Given the description of an element on the screen output the (x, y) to click on. 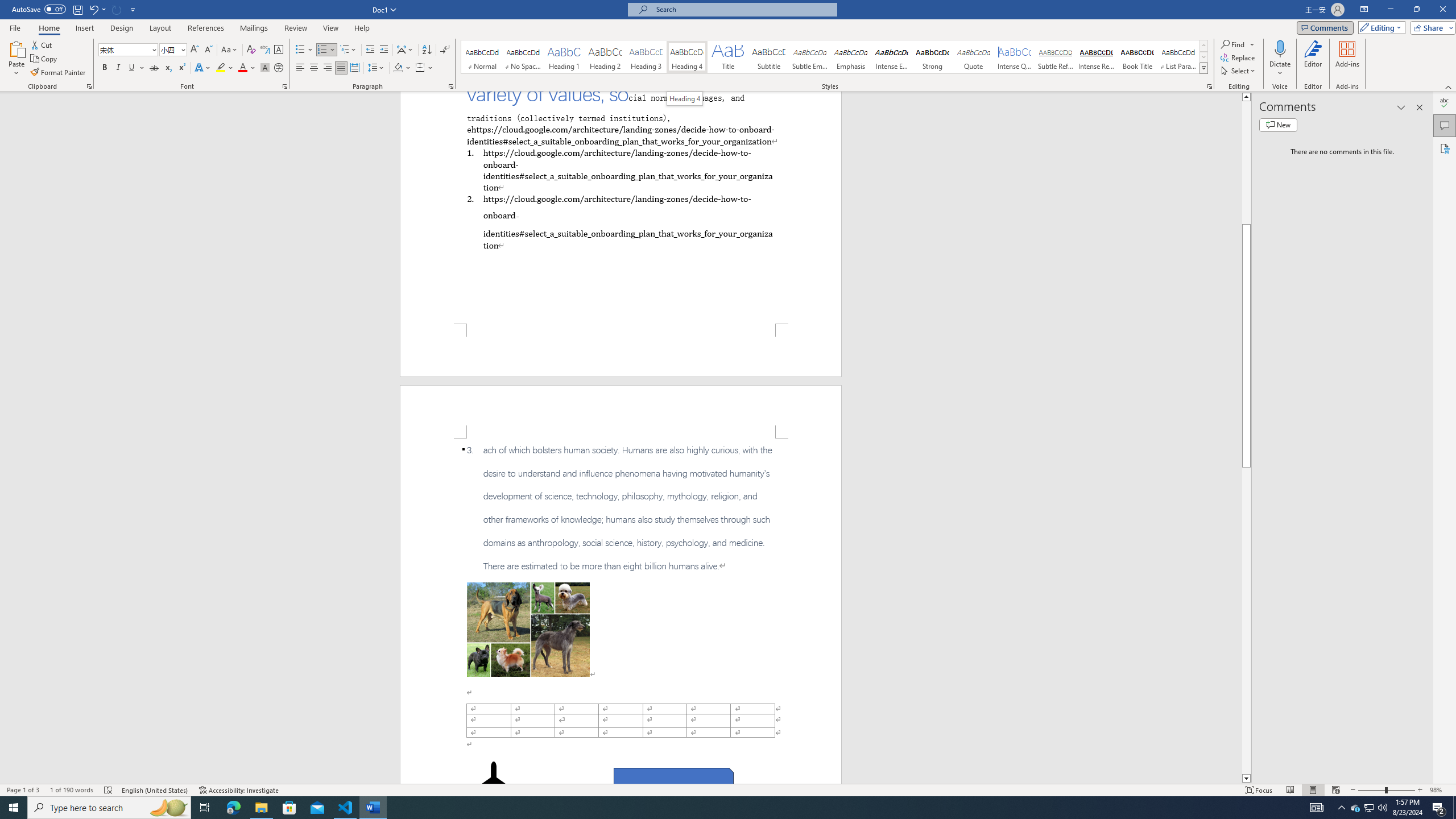
Row Down (1203, 56)
Paste (16, 58)
Shrink Font (208, 49)
Line up (1245, 96)
Office Clipboard... (88, 85)
Help (361, 28)
Focus  (1258, 790)
Character Border (278, 49)
Text Highlight Color (224, 67)
Page up (1245, 162)
Class: NetUIImage (1204, 68)
Numbering (326, 49)
Character Shading (264, 67)
Font Color Automatic (241, 67)
Subtitle (768, 56)
